Given the description of an element on the screen output the (x, y) to click on. 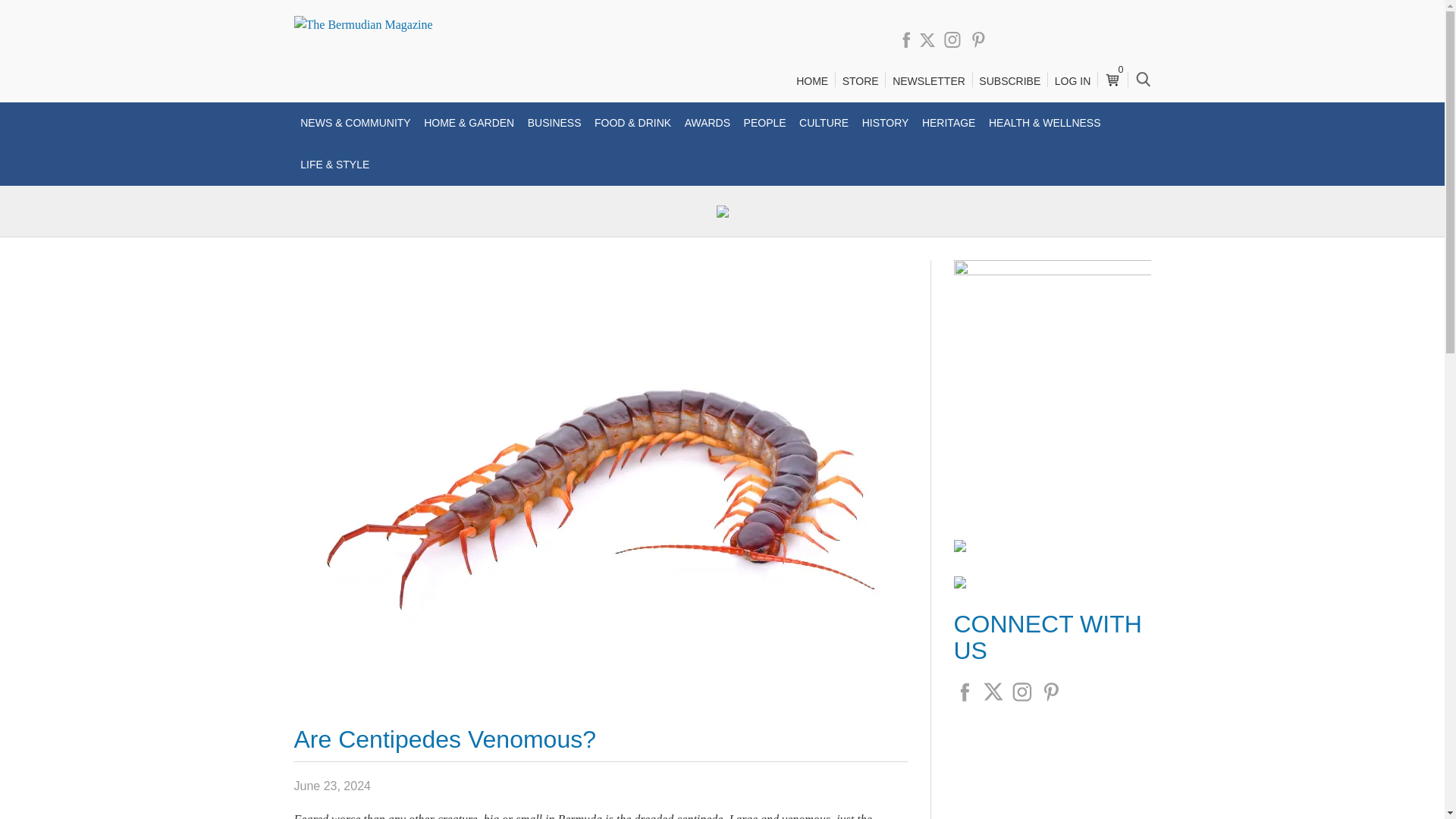
PEOPLE (764, 123)
HOME (811, 81)
HERITAGE (948, 123)
AWARDS (707, 123)
CULTURE (824, 123)
BUSINESS (554, 123)
SUBSCRIBE (1009, 81)
HISTORY (885, 123)
NEWSLETTER (928, 81)
STORE (860, 81)
0 (1111, 75)
LOG IN (1072, 81)
